Given the description of an element on the screen output the (x, y) to click on. 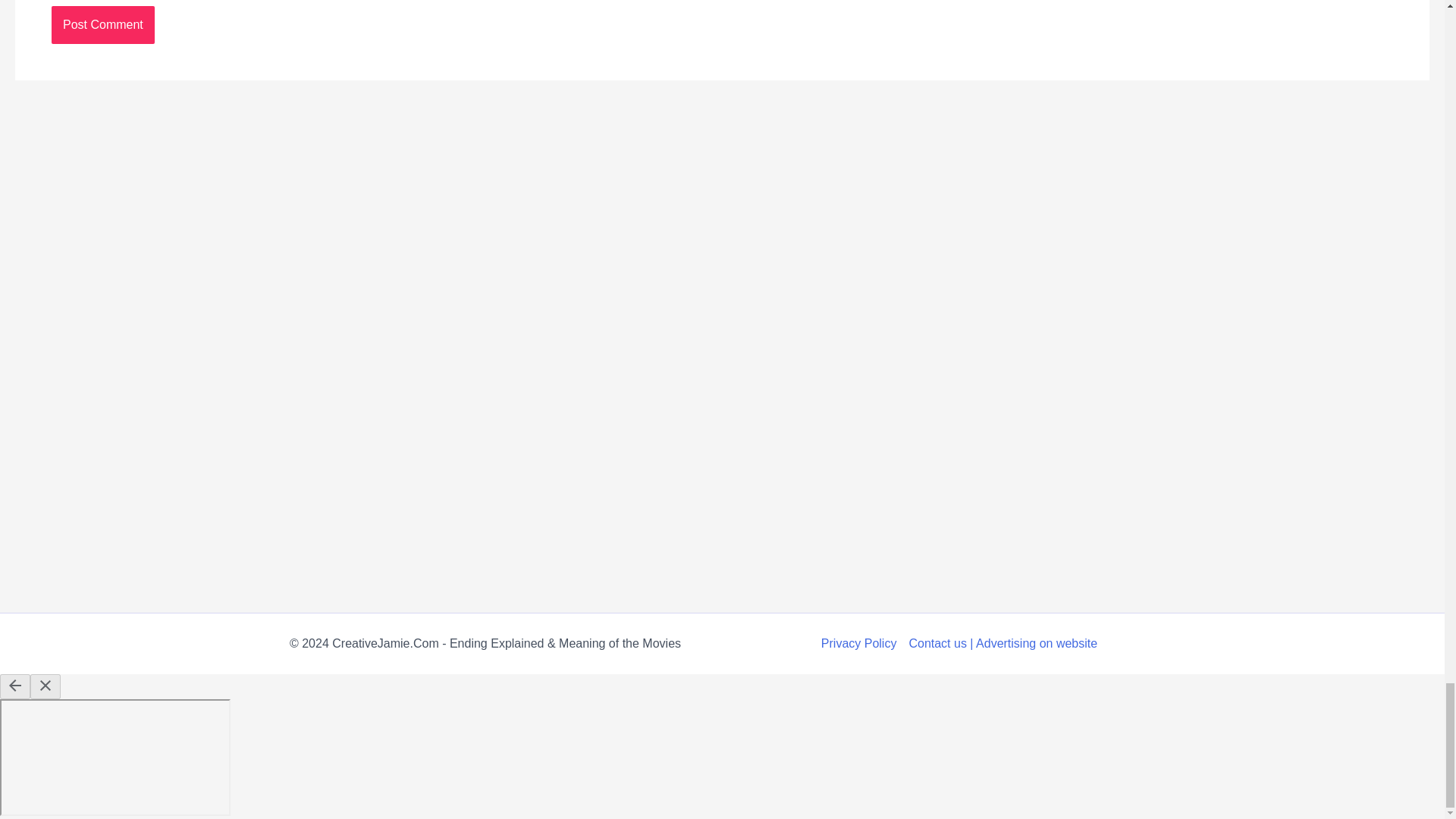
Post Comment (102, 24)
